Given the description of an element on the screen output the (x, y) to click on. 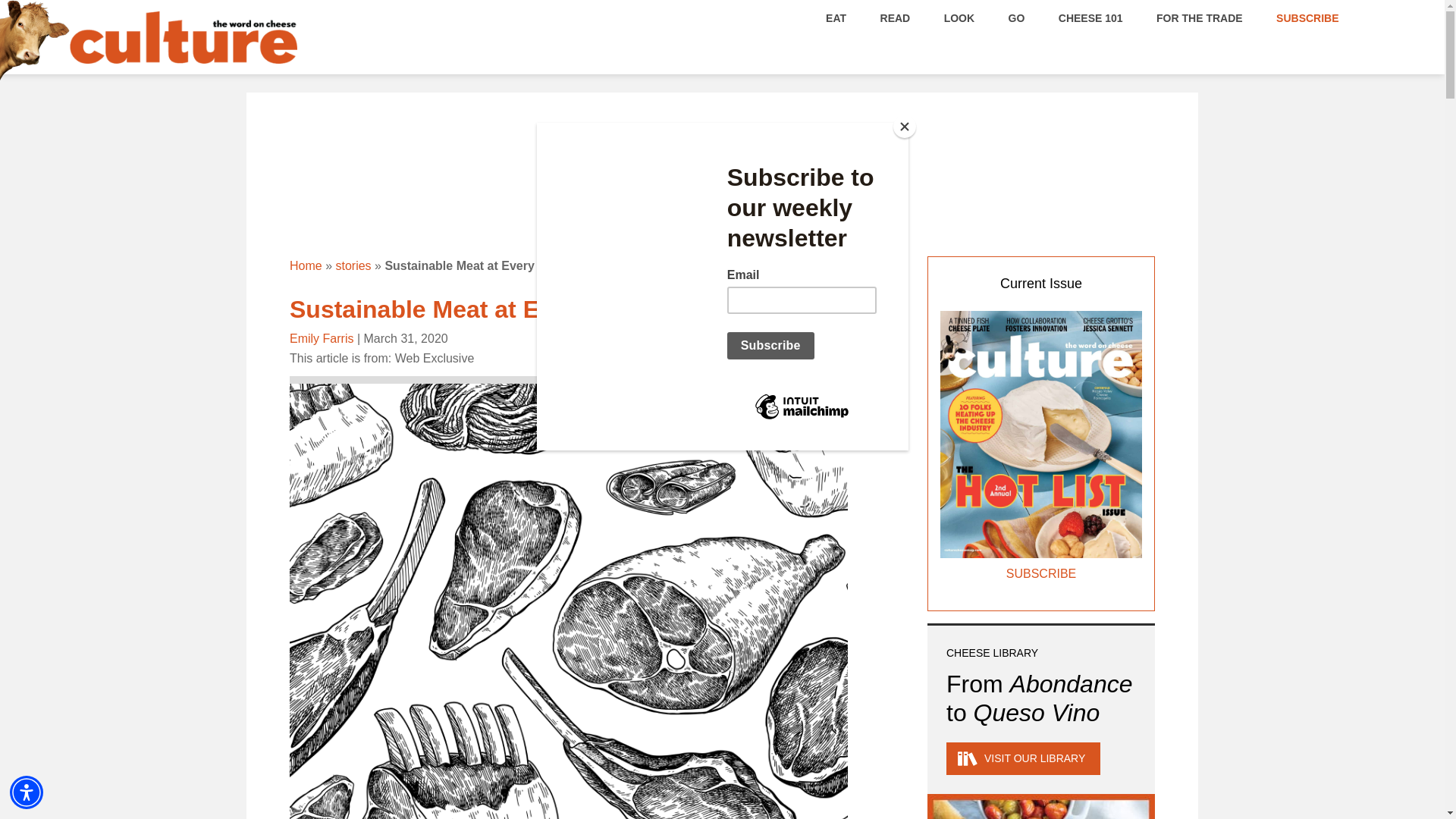
Posts by Emily Farris (321, 338)
CHEESE 101 (1090, 17)
EAT (835, 17)
culture home (183, 50)
Sustainable Meat at Every Meal (469, 308)
READ (895, 17)
FOR THE TRADE (1199, 17)
GO (1016, 17)
Accessibility Menu (26, 792)
3rd party ad content (721, 175)
LOOK (959, 17)
